Given the description of an element on the screen output the (x, y) to click on. 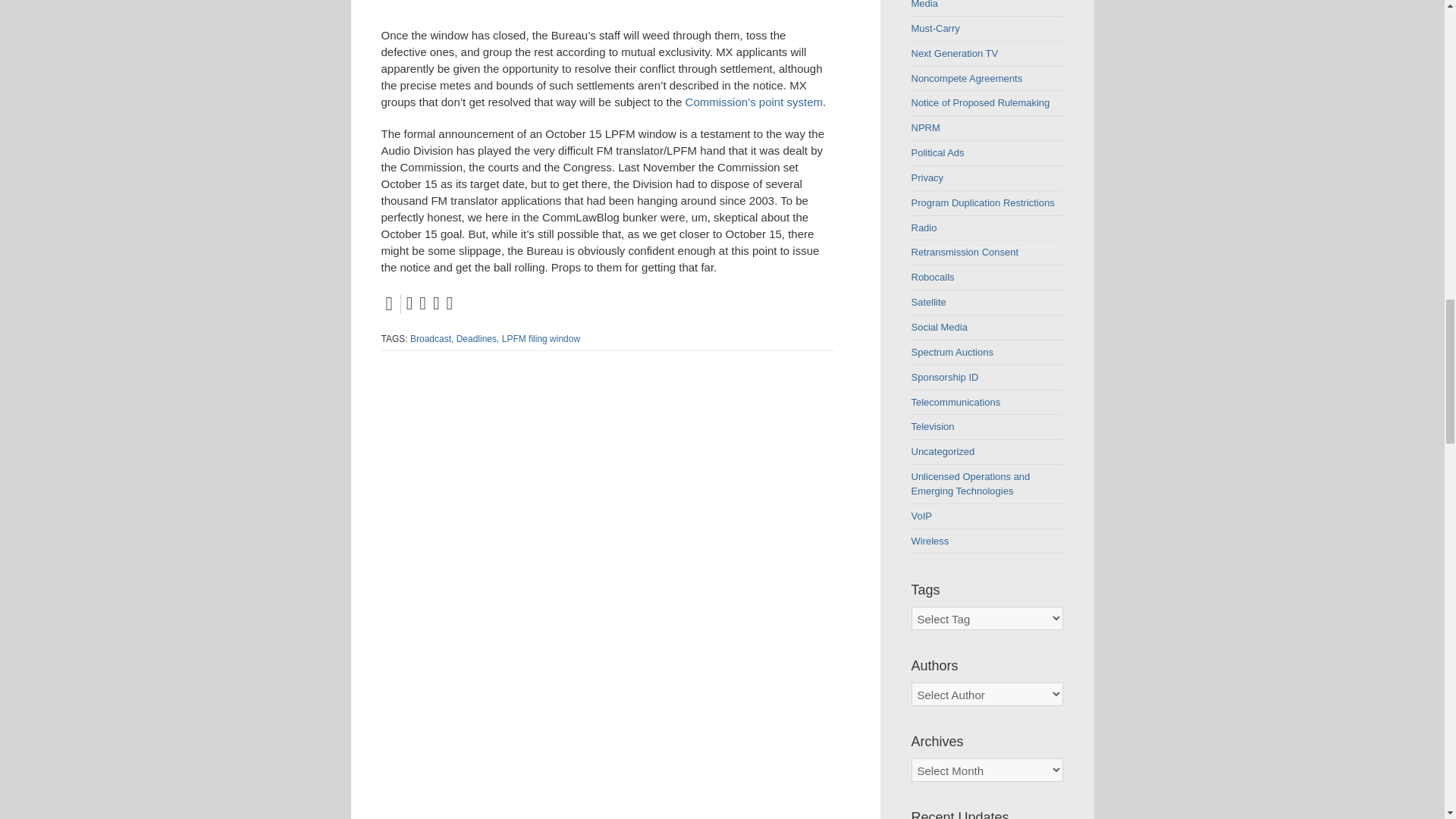
Deadlines, (478, 338)
Broadcast, (431, 338)
LPFM filing window (540, 338)
